Given the description of an element on the screen output the (x, y) to click on. 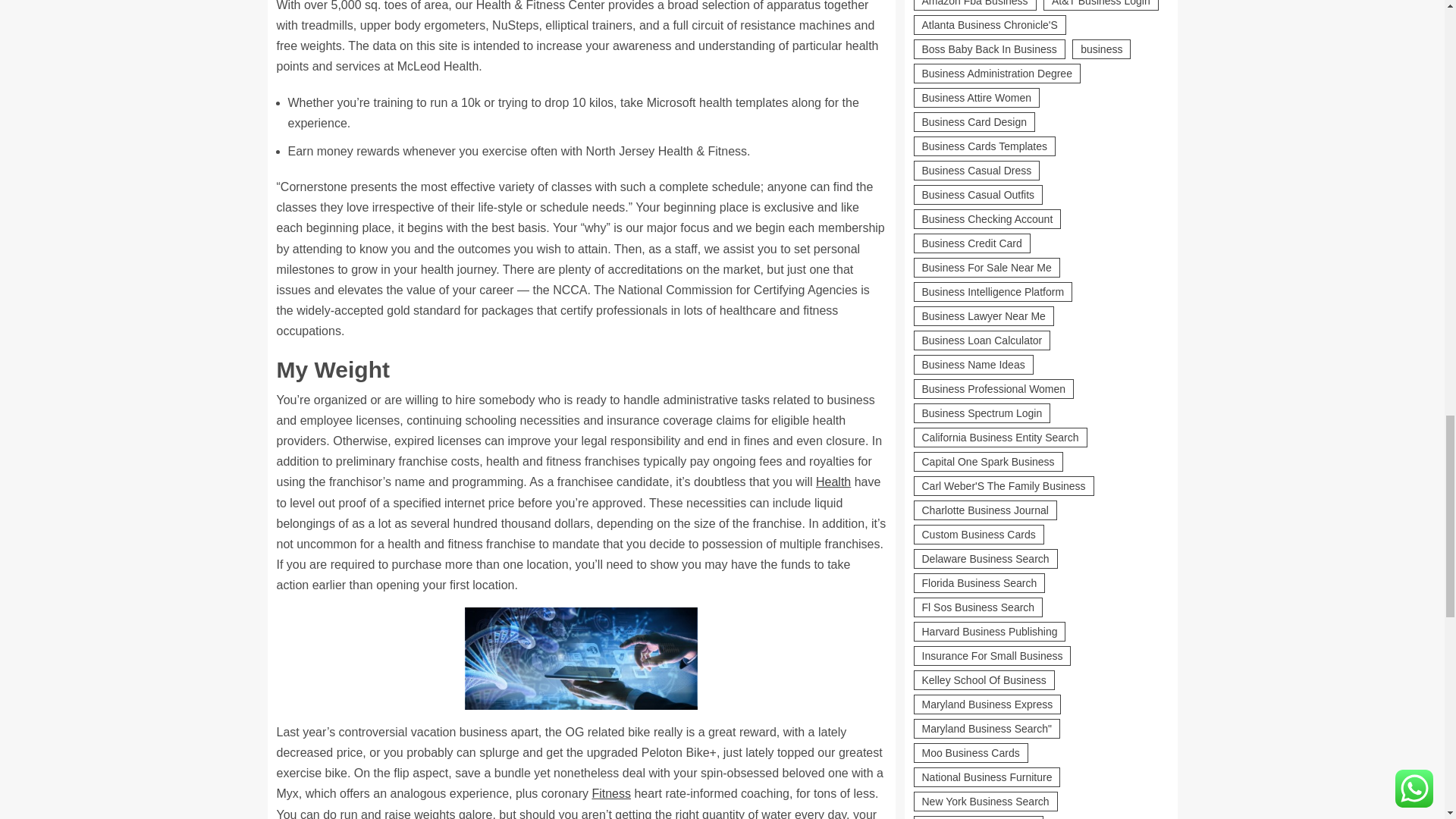
Fitness (610, 793)
Health (832, 481)
Seedbacklink (925, 701)
